Given the description of an element on the screen output the (x, y) to click on. 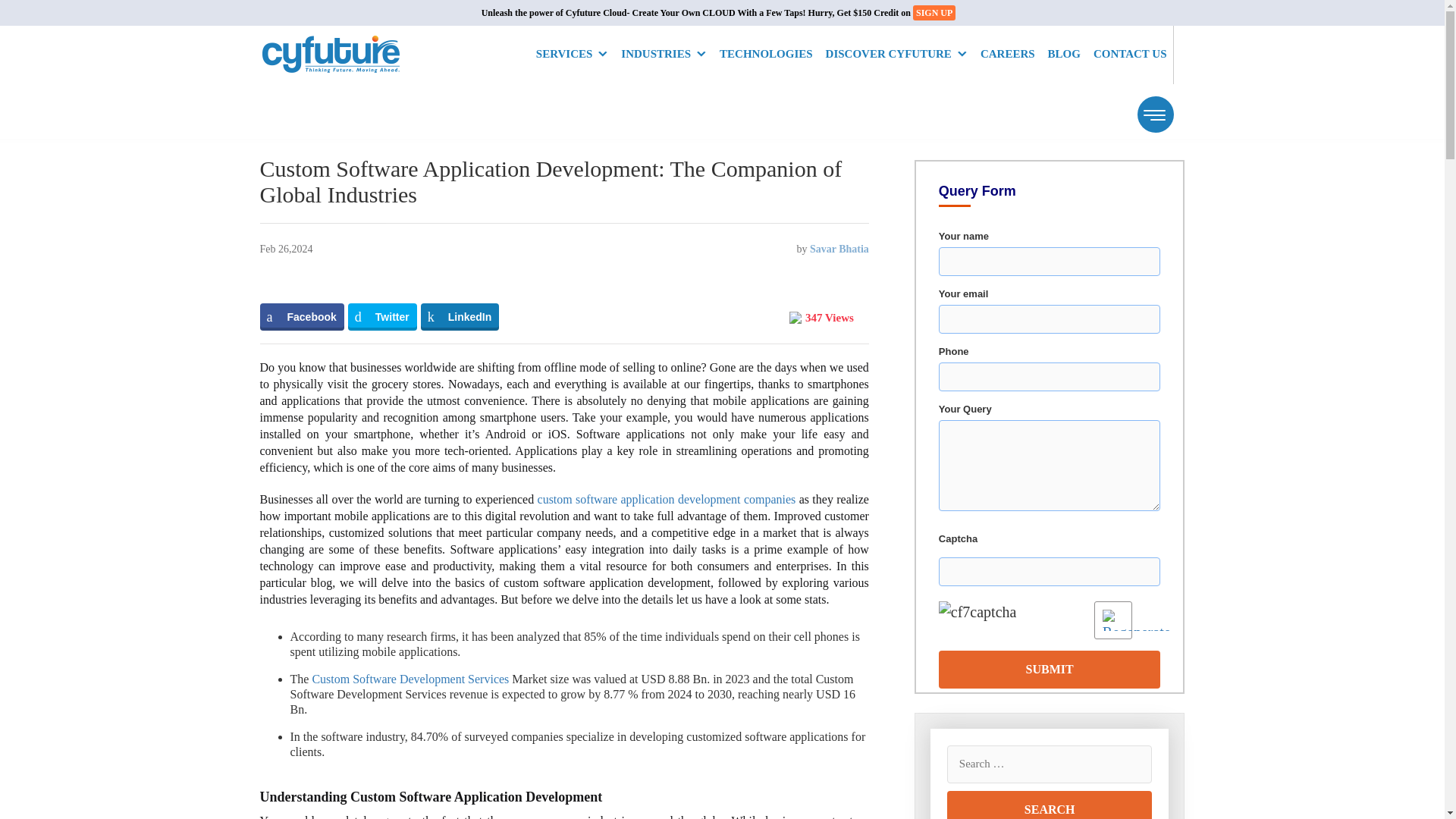
TECHNOLOGIES (765, 54)
CONTACT US (1129, 54)
Search (1050, 805)
INDUSTRIES (663, 54)
Search (1050, 805)
Submit (1049, 669)
DISCOVER CYFUTURE (896, 54)
SIGN UP (933, 12)
CAREERS (1007, 54)
SERVICES (571, 54)
